Given the description of an element on the screen output the (x, y) to click on. 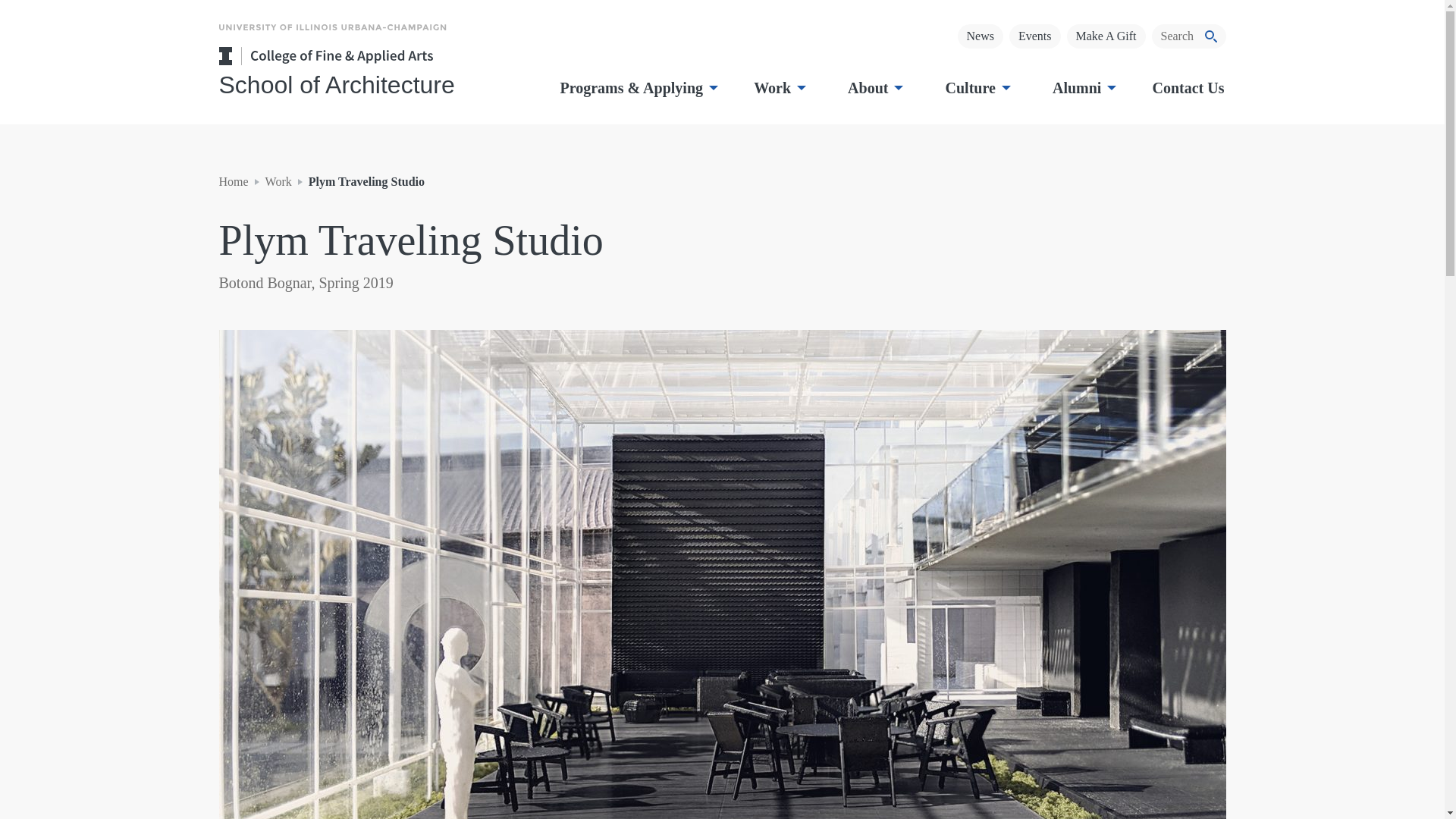
Work (777, 87)
Make A Gift (1104, 36)
School of Architecture (369, 84)
Events (1035, 36)
News (980, 36)
About (874, 87)
